Given the description of an element on the screen output the (x, y) to click on. 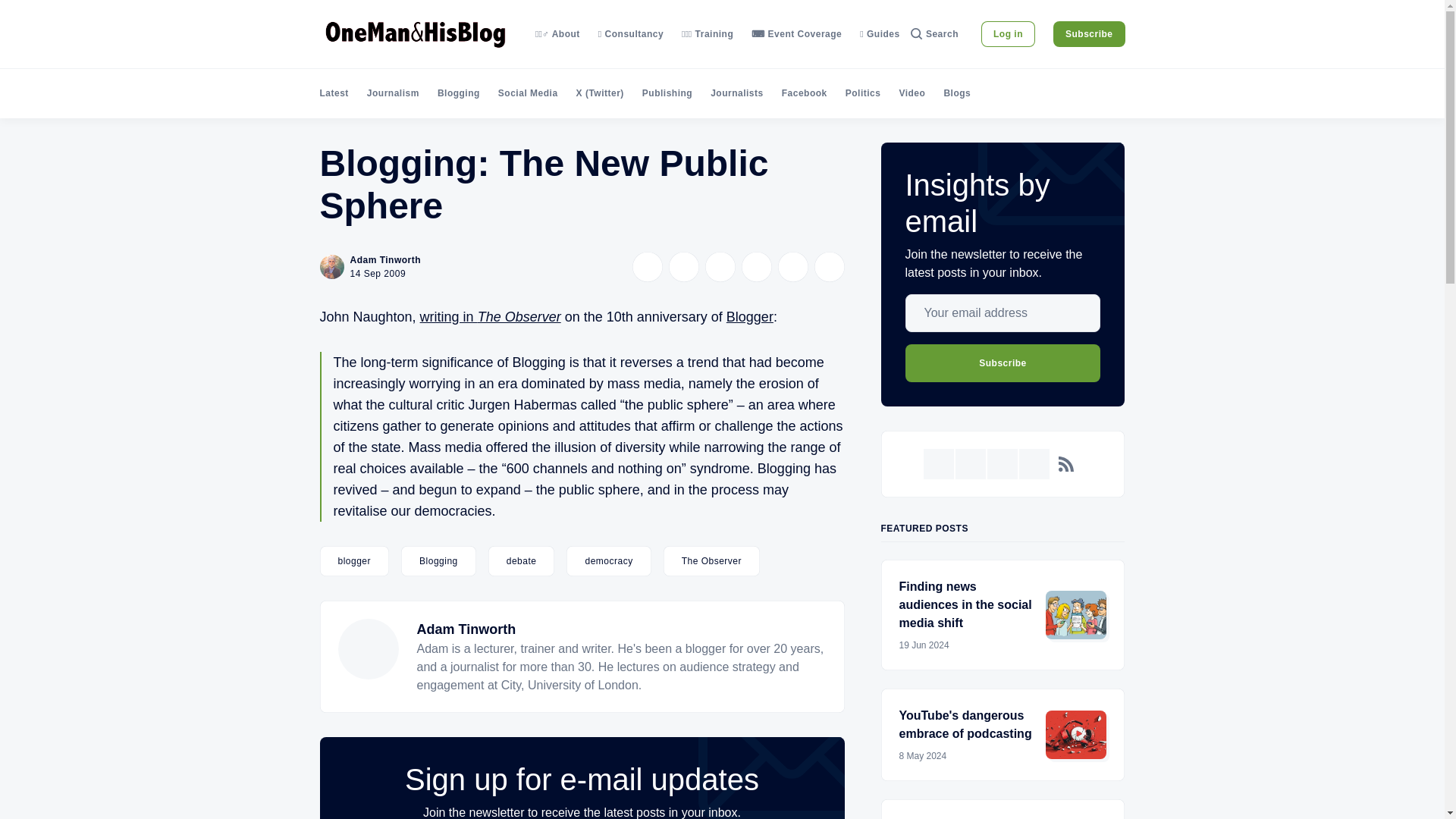
Share on Facebook (683, 266)
Subscribe (1088, 33)
Adam Tinworth (466, 629)
Copy link (828, 266)
Blogger (749, 316)
Share via Email (792, 266)
Search (933, 33)
Log in (1008, 33)
The Observer (711, 561)
Social Media (527, 92)
